Given the description of an element on the screen output the (x, y) to click on. 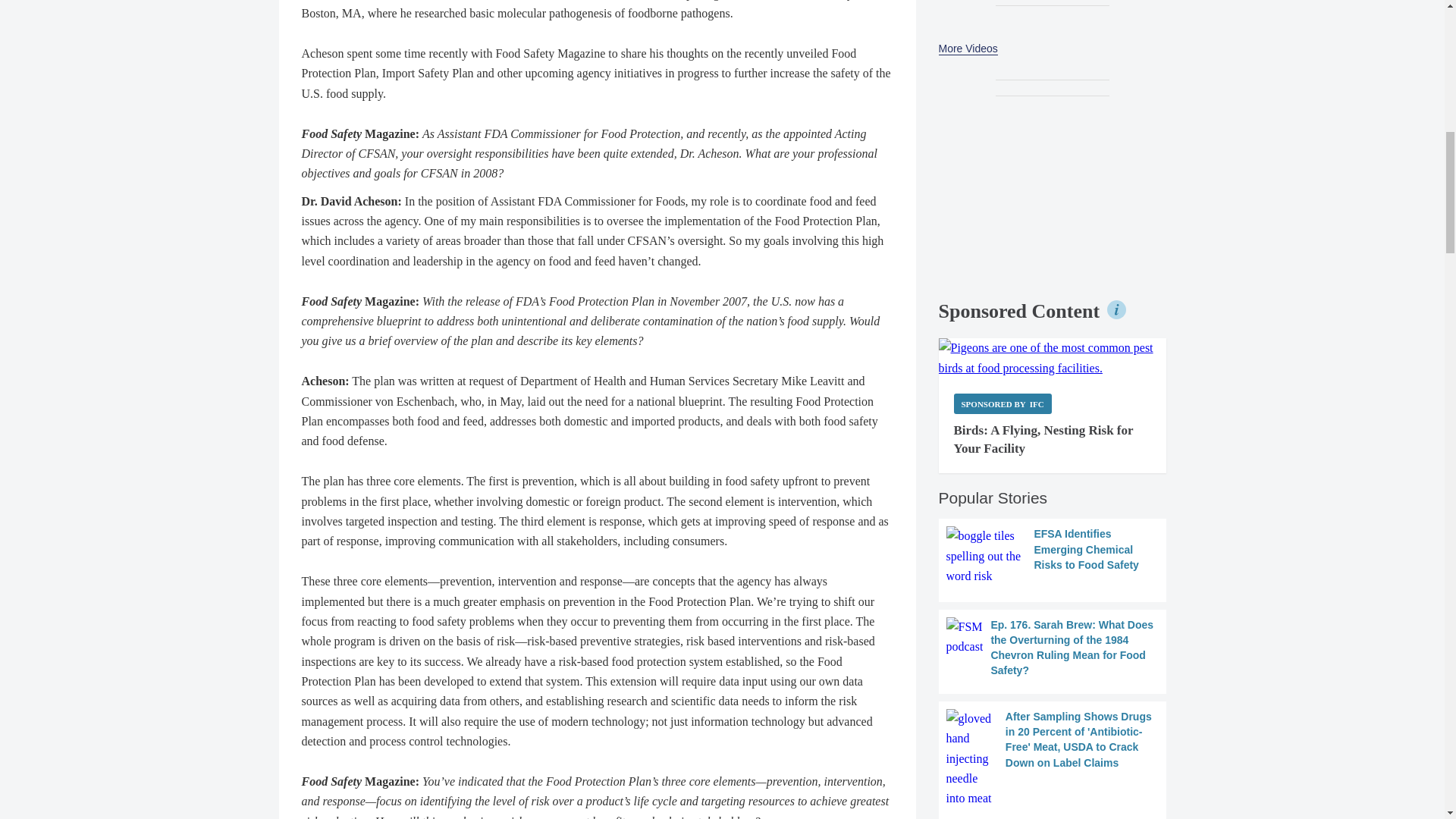
Sponsored by IFC (1002, 403)
EFSA Identifies Emerging Chemical Risks to Food Safety  (1052, 556)
